Given the description of an element on the screen output the (x, y) to click on. 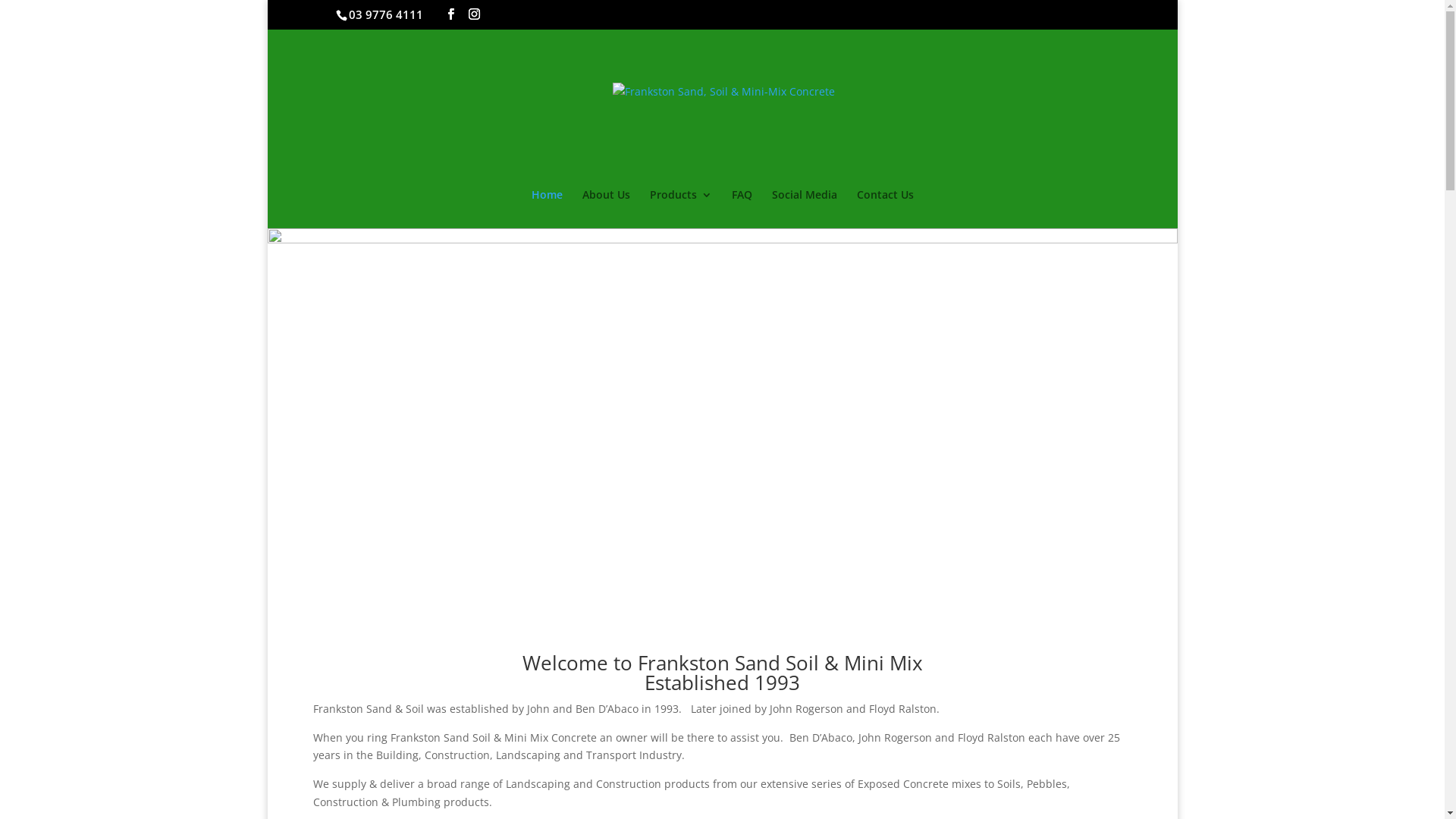
Contact Us Element type: text (884, 208)
Social Media Element type: text (804, 208)
Products Element type: text (680, 208)
Home Element type: text (545, 208)
FAQ Element type: text (741, 208)
About Us Element type: text (606, 208)
